Given the description of an element on the screen output the (x, y) to click on. 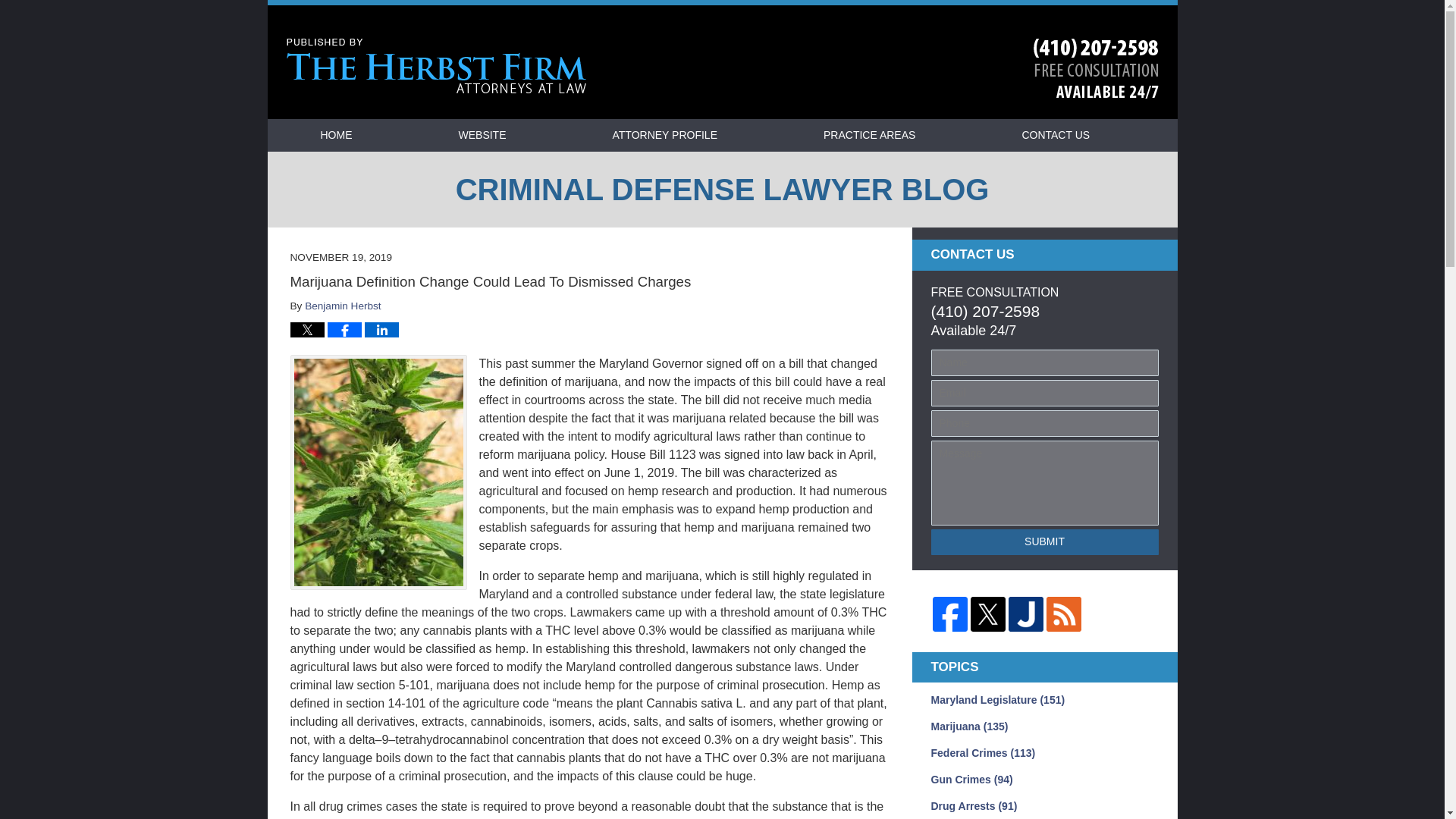
Criminal Defense Lawyer Blog (436, 66)
Published By Benjamin Herbst, Esq. (1094, 68)
SUBMIT (1044, 542)
Facebook (950, 614)
Please enter a valid phone number. (1044, 423)
Justia (1026, 614)
CRIMINAL DEFENSE LAWYER BLOG (721, 189)
WEBSITE (481, 134)
PRACTICE AREAS (869, 134)
Twitter (988, 614)
HOME (335, 134)
Benjamin Herbst (342, 306)
Feed (1064, 614)
CONTACT US (1055, 134)
ATTORNEY PROFILE (664, 134)
